Given the description of an element on the screen output the (x, y) to click on. 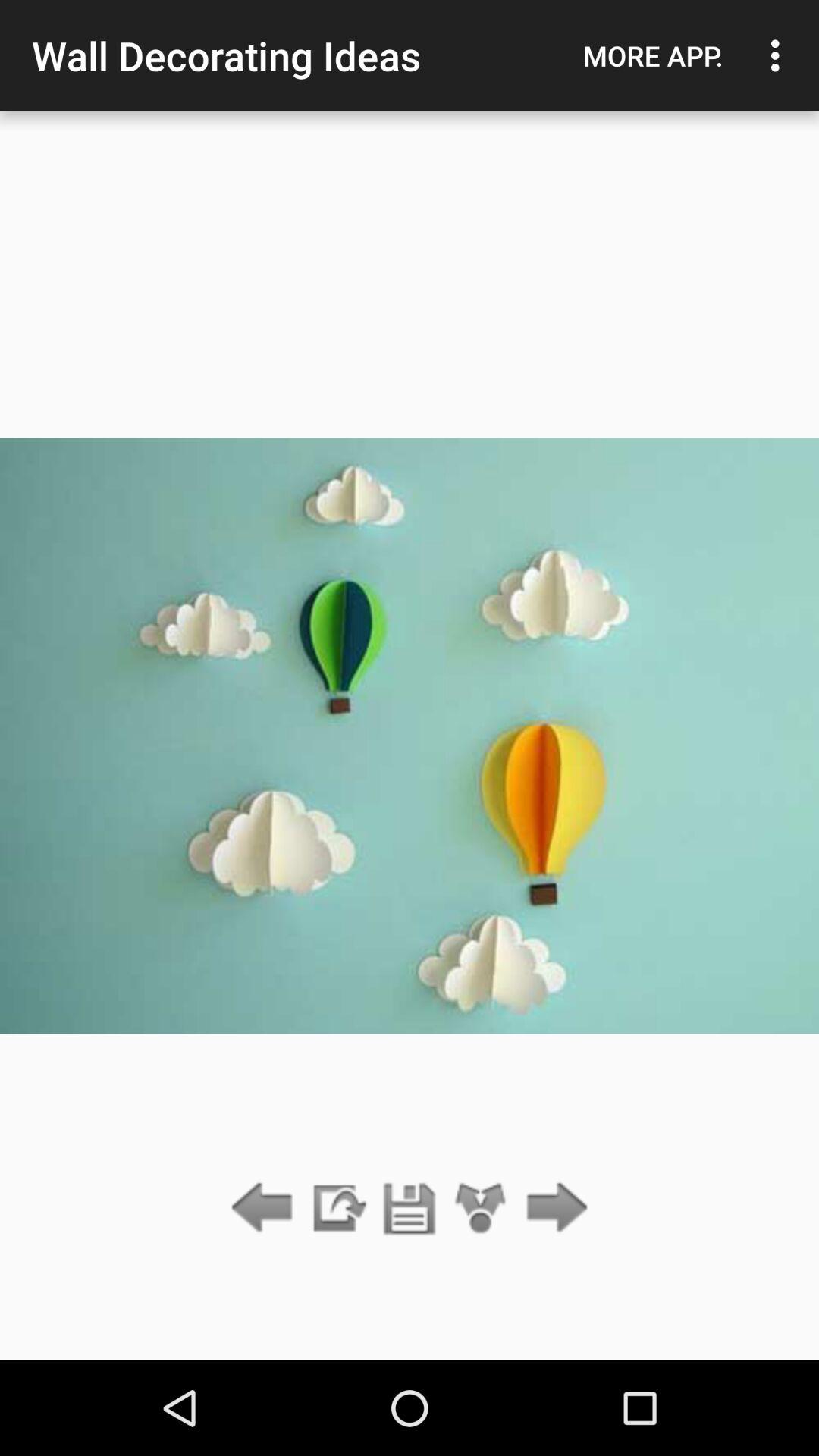
turn on item next to more app. item (779, 55)
